Given the description of an element on the screen output the (x, y) to click on. 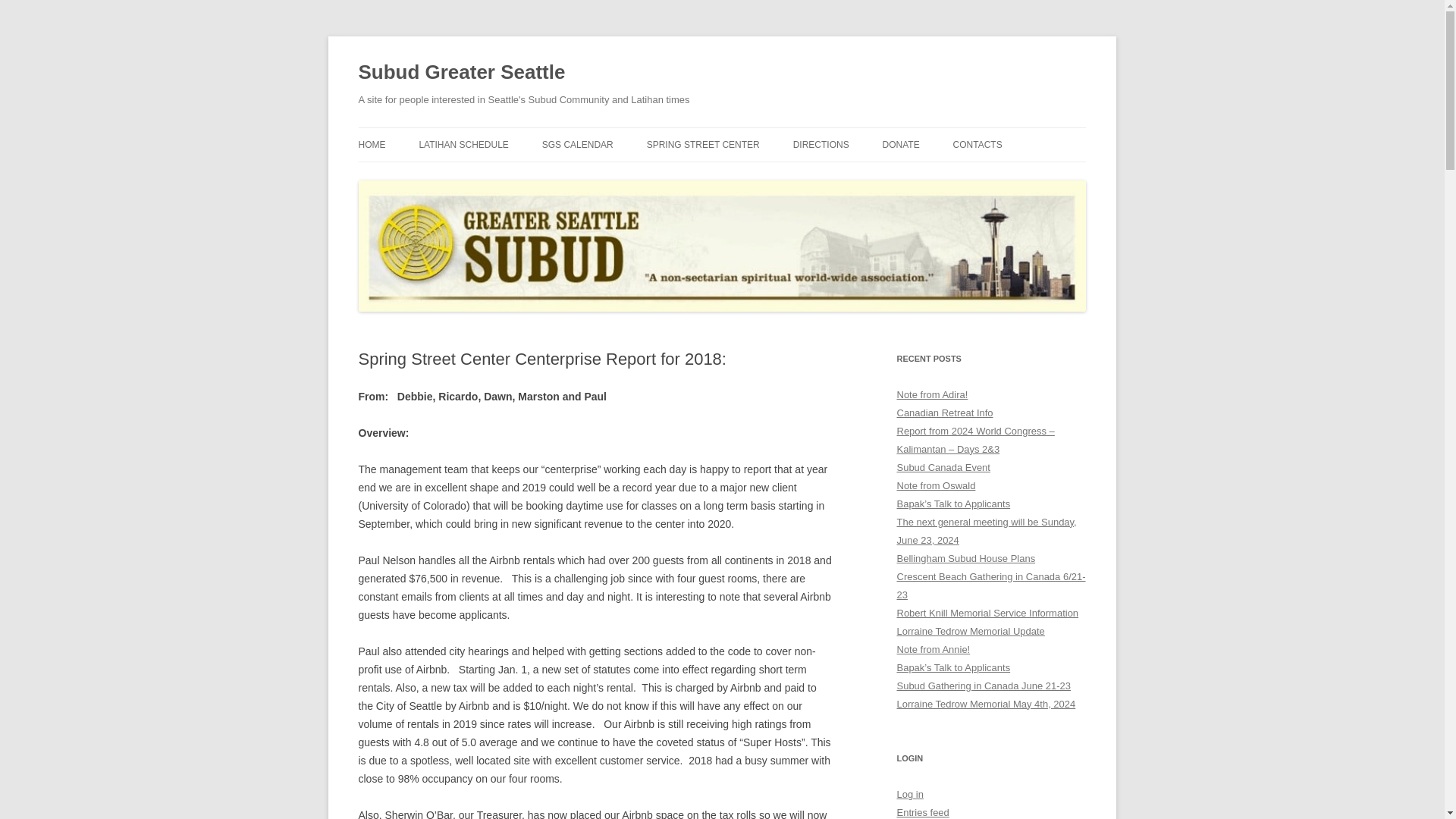
Lorraine Tedrow Memorial May 4th, 2024 (985, 703)
SGS CALENDAR (576, 144)
Log in (909, 794)
Lorraine Tedrow Memorial Update (969, 631)
Subud Canada Event (943, 467)
SPRING STREET CENTER (703, 144)
DIRECTIONS (820, 144)
Subud Gathering in Canada June 21-23 (983, 685)
CONTACTS (978, 144)
